Given the description of an element on the screen output the (x, y) to click on. 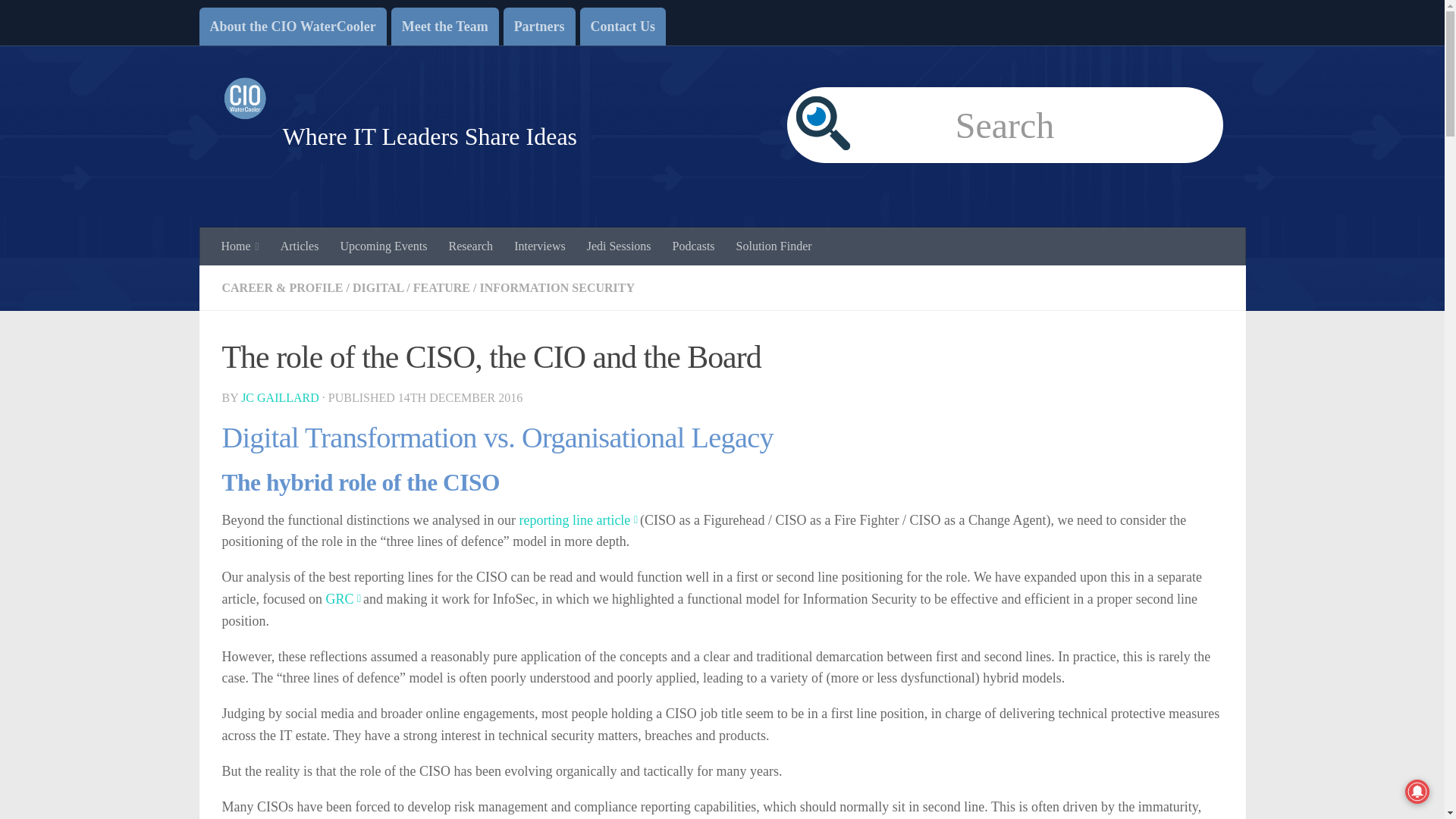
JC GAILLARD (279, 397)
Contact Us (622, 26)
Articles (299, 246)
INFORMATION SECURITY (556, 287)
Jedi Sessions (619, 246)
Search (1005, 124)
Meet the Team (445, 26)
Interviews (539, 246)
DIGITAL (377, 287)
Partners (539, 26)
Home (240, 246)
Upcoming Events (383, 246)
FEATURE (441, 287)
About the CIO WaterCooler (291, 26)
Search (1005, 124)
